Given the description of an element on the screen output the (x, y) to click on. 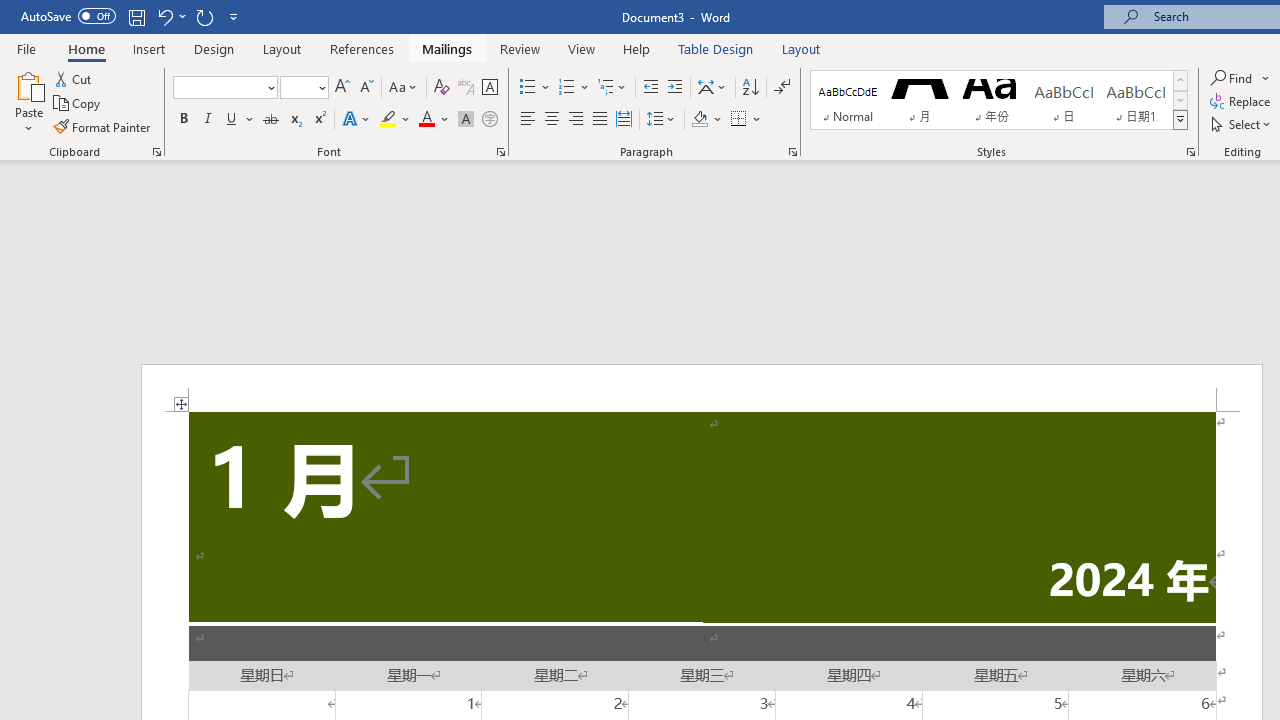
Undo Distribute Para (170, 15)
